Given the description of an element on the screen output the (x, y) to click on. 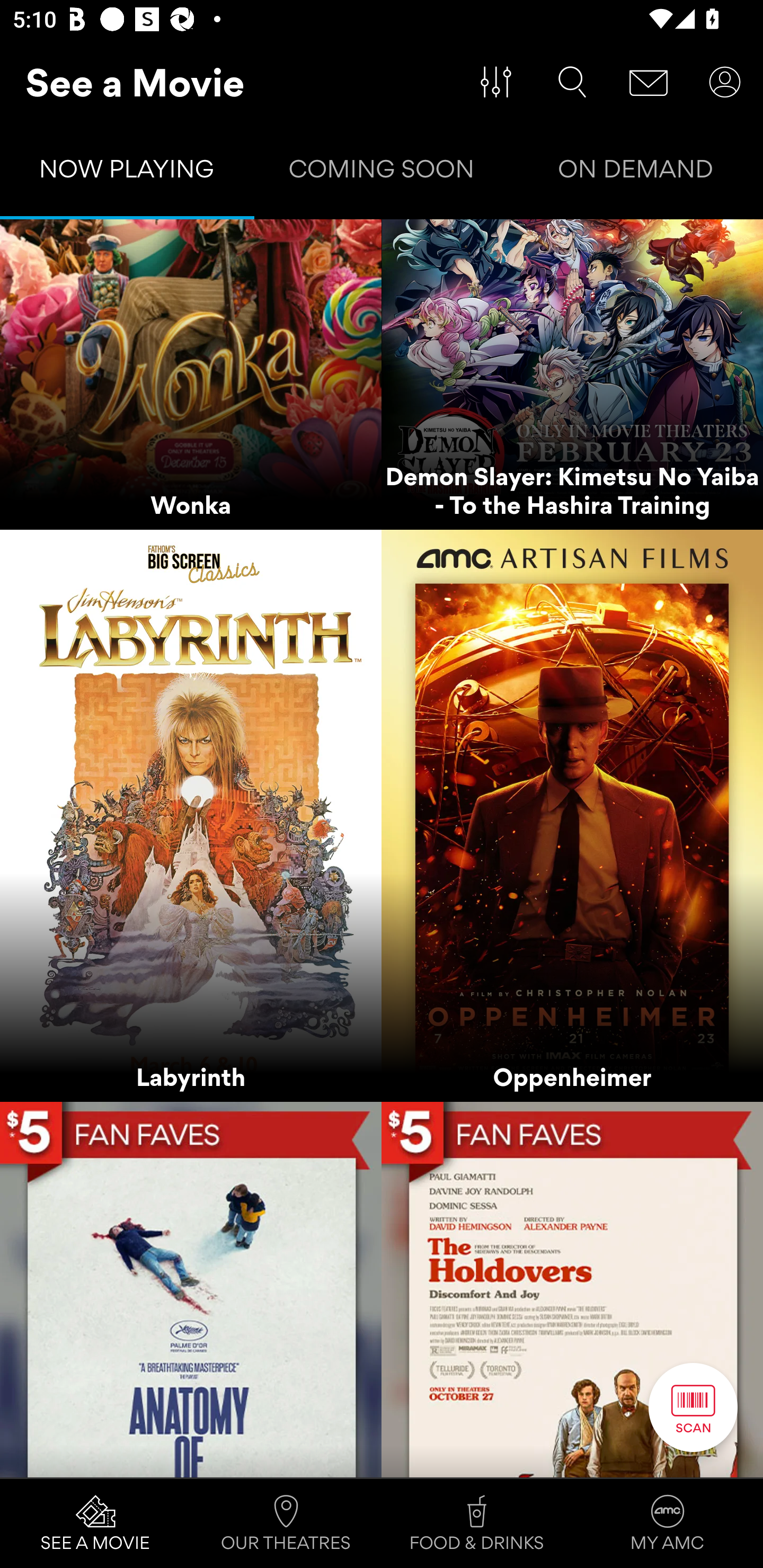
Filter Movies (495, 82)
Search (572, 82)
Message Center (648, 82)
User Account (724, 82)
NOW PLAYING
Tab 1 of 3 (127, 173)
COMING SOON
Tab 2 of 3 (381, 173)
ON DEMAND
Tab 3 of 3 (635, 173)
Wonka (190, 374)
Labyrinth (190, 815)
Oppenheimer (572, 815)
Anatomy of a Fall (190, 1289)
The Holdovers (572, 1289)
Scan Button (692, 1406)
SEE A MOVIE
Tab 1 of 4 (95, 1523)
OUR THEATRES
Tab 2 of 4 (285, 1523)
FOOD & DRINKS
Tab 3 of 4 (476, 1523)
MY AMC
Tab 4 of 4 (667, 1523)
